Given the description of an element on the screen output the (x, y) to click on. 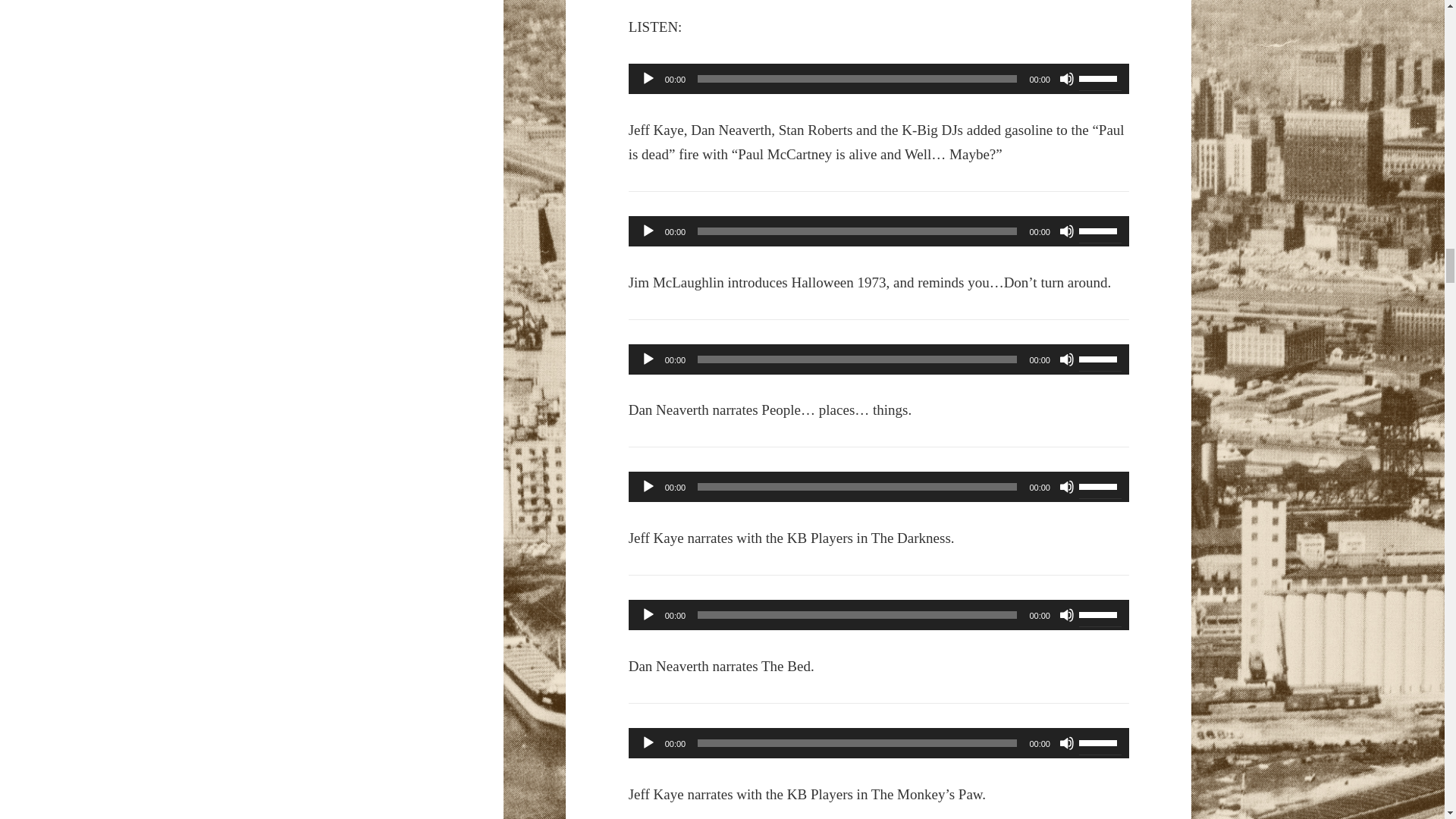
Play (648, 486)
Play (648, 231)
Play (648, 614)
Mute (1066, 231)
Play (648, 78)
Play (648, 743)
Play (648, 359)
Mute (1066, 78)
Mute (1066, 743)
Mute (1066, 486)
Mute (1066, 359)
Mute (1066, 614)
